Given the description of an element on the screen output the (x, y) to click on. 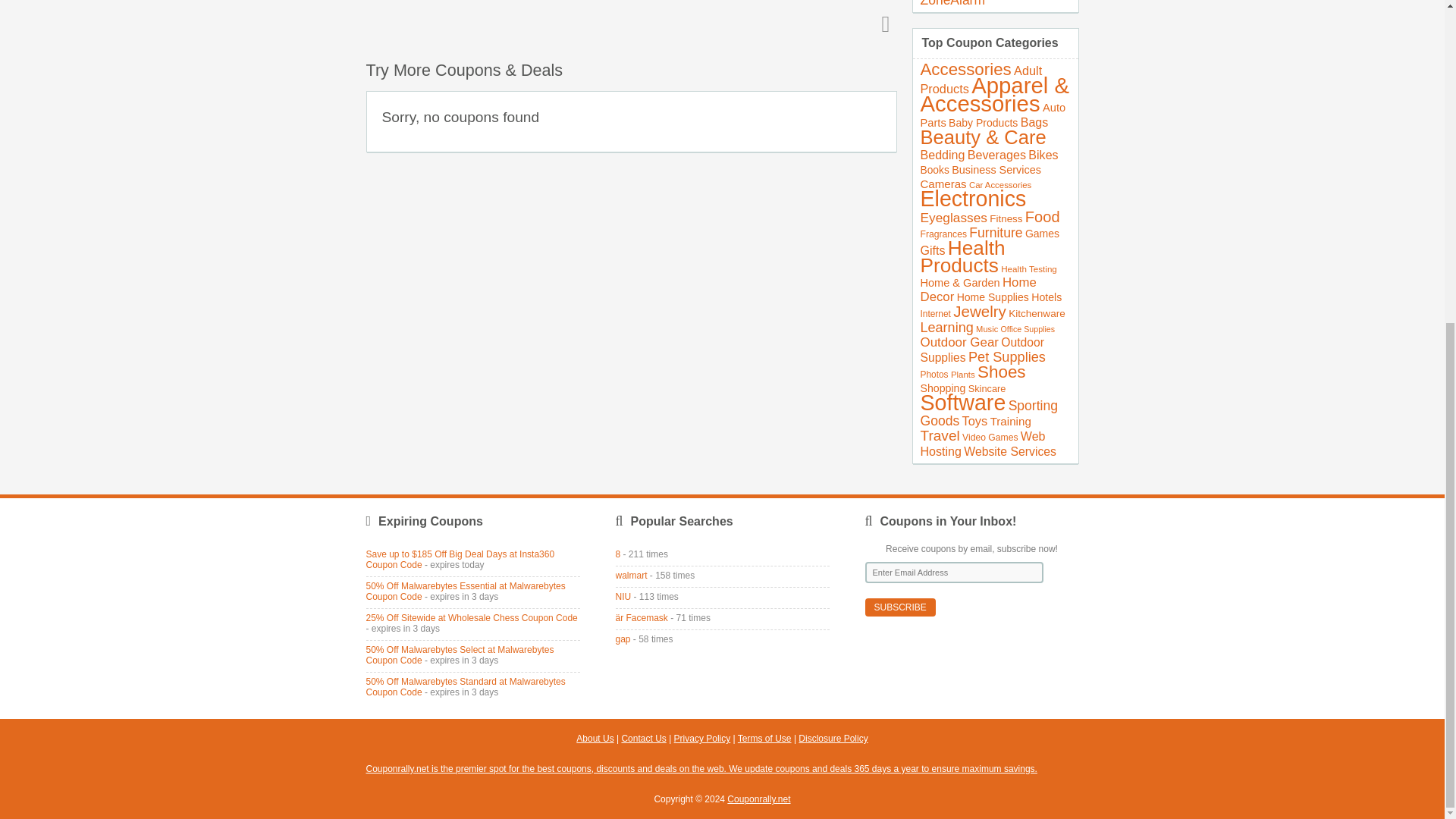
About Us (594, 738)
Subscribe (899, 607)
